Given the description of an element on the screen output the (x, y) to click on. 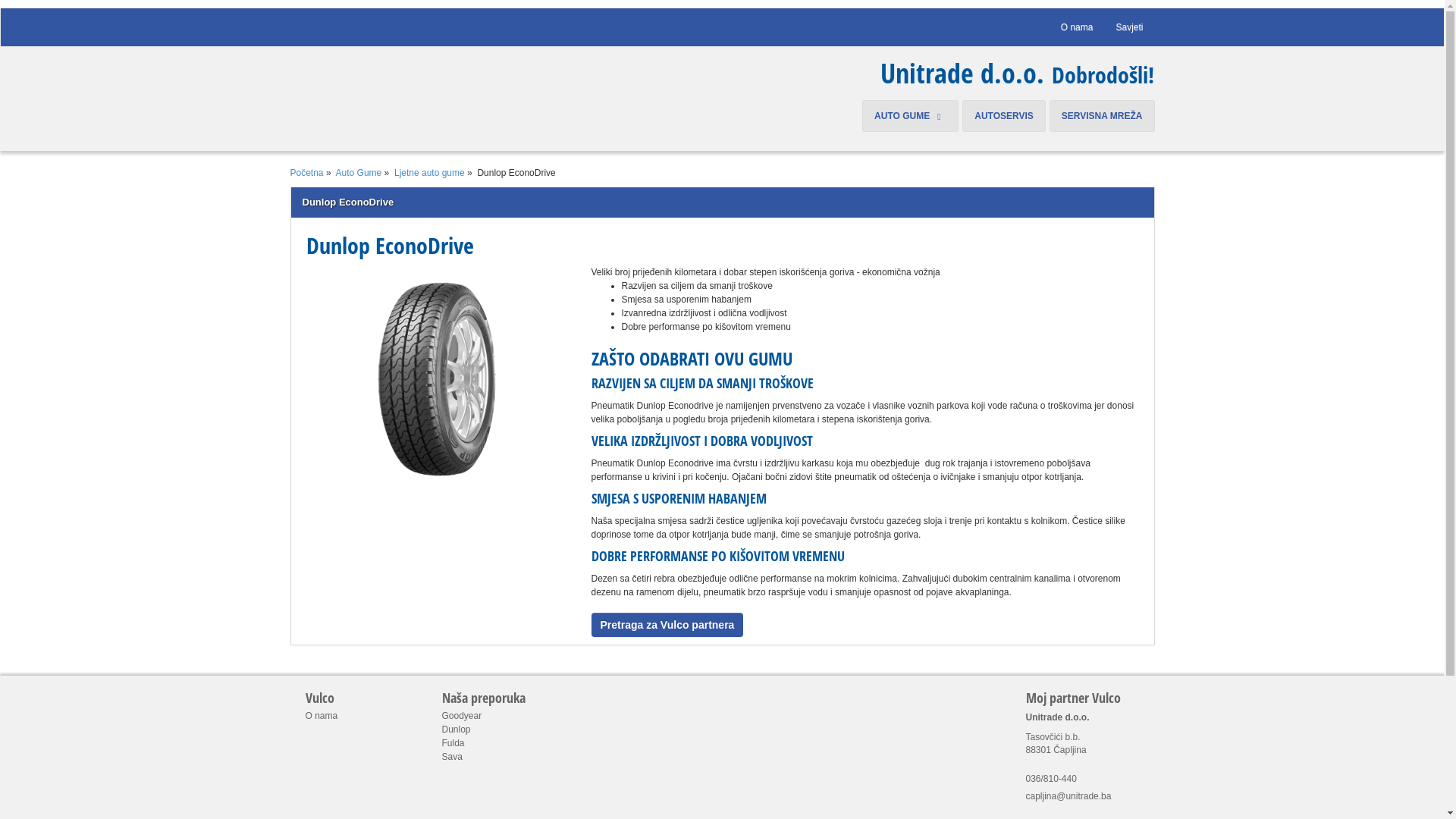
Vulco Element type: text (353, 698)
Dunlop Element type: text (455, 729)
capljina@unitrade.ba Element type: text (1067, 795)
Fulda Element type: text (452, 742)
Sava Element type: text (451, 756)
036/810-440 Element type: text (1050, 778)
O nama Element type: text (1076, 27)
Savjeti Element type: text (1129, 27)
Goodyear Element type: text (461, 715)
Pretraga za Vulco partnera Element type: text (667, 624)
Ljetne auto gume Element type: text (429, 172)
O nama Element type: text (320, 715)
Auto Gume Element type: text (358, 172)
AUTO GUME   Element type: text (909, 115)
AUTOSERVIS Element type: text (1003, 115)
